Given the description of an element on the screen output the (x, y) to click on. 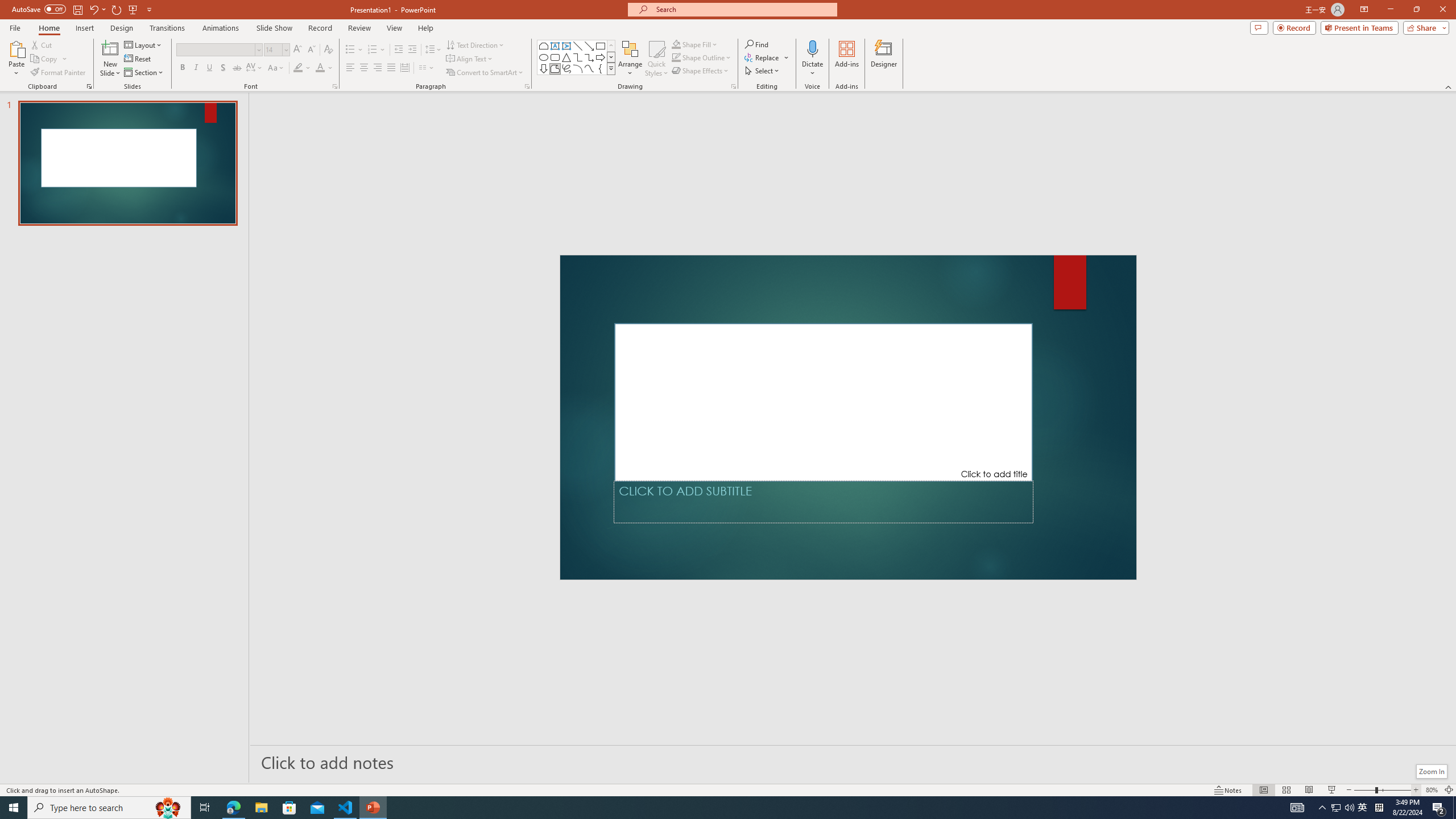
Shape Effects (700, 69)
